Given the description of an element on the screen output the (x, y) to click on. 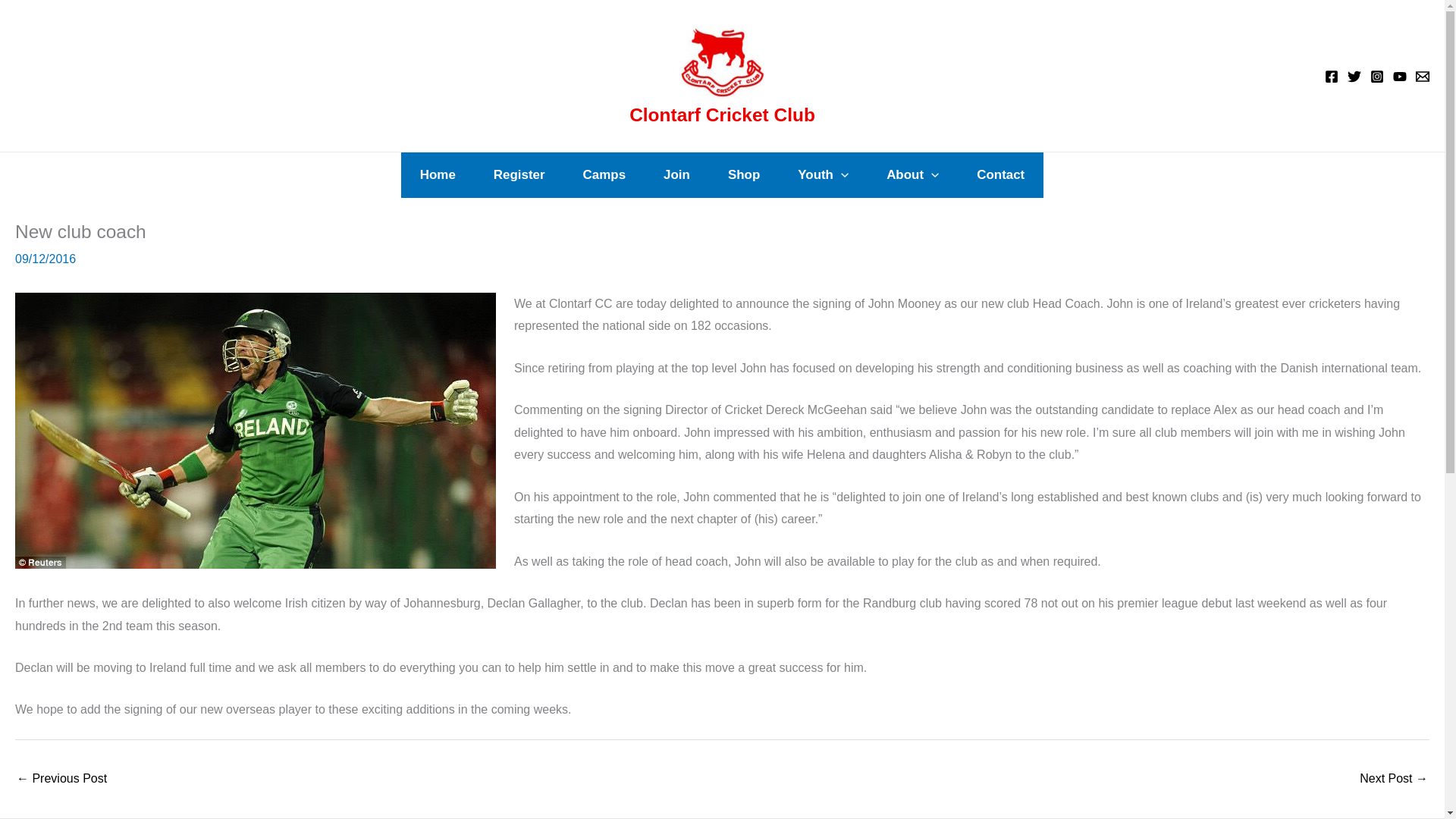
Youth (822, 175)
Home (437, 175)
Clontarf Cricket Club (721, 114)
About (912, 175)
Register (519, 175)
Contact (1000, 175)
Shop (743, 175)
Camps (604, 175)
Annual Club Dinner (61, 779)
Join (677, 175)
Candlelit Dinner - Save the Date (1393, 779)
